Given the description of an element on the screen output the (x, y) to click on. 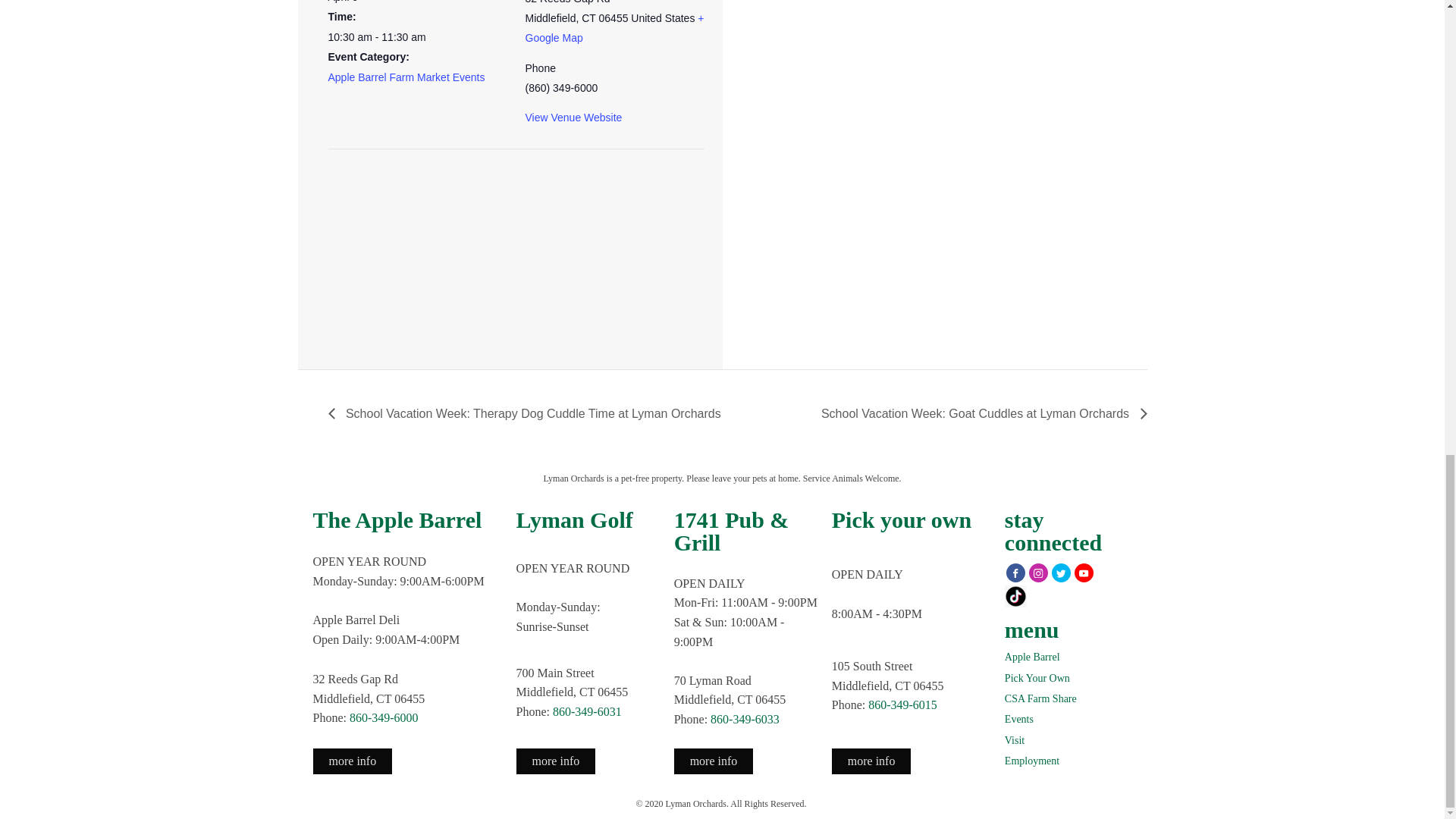
Click to view a Google Map (613, 28)
2024-04-09 (416, 36)
2024-04-09 (342, 1)
Connecticut (587, 18)
